Given the description of an element on the screen output the (x, y) to click on. 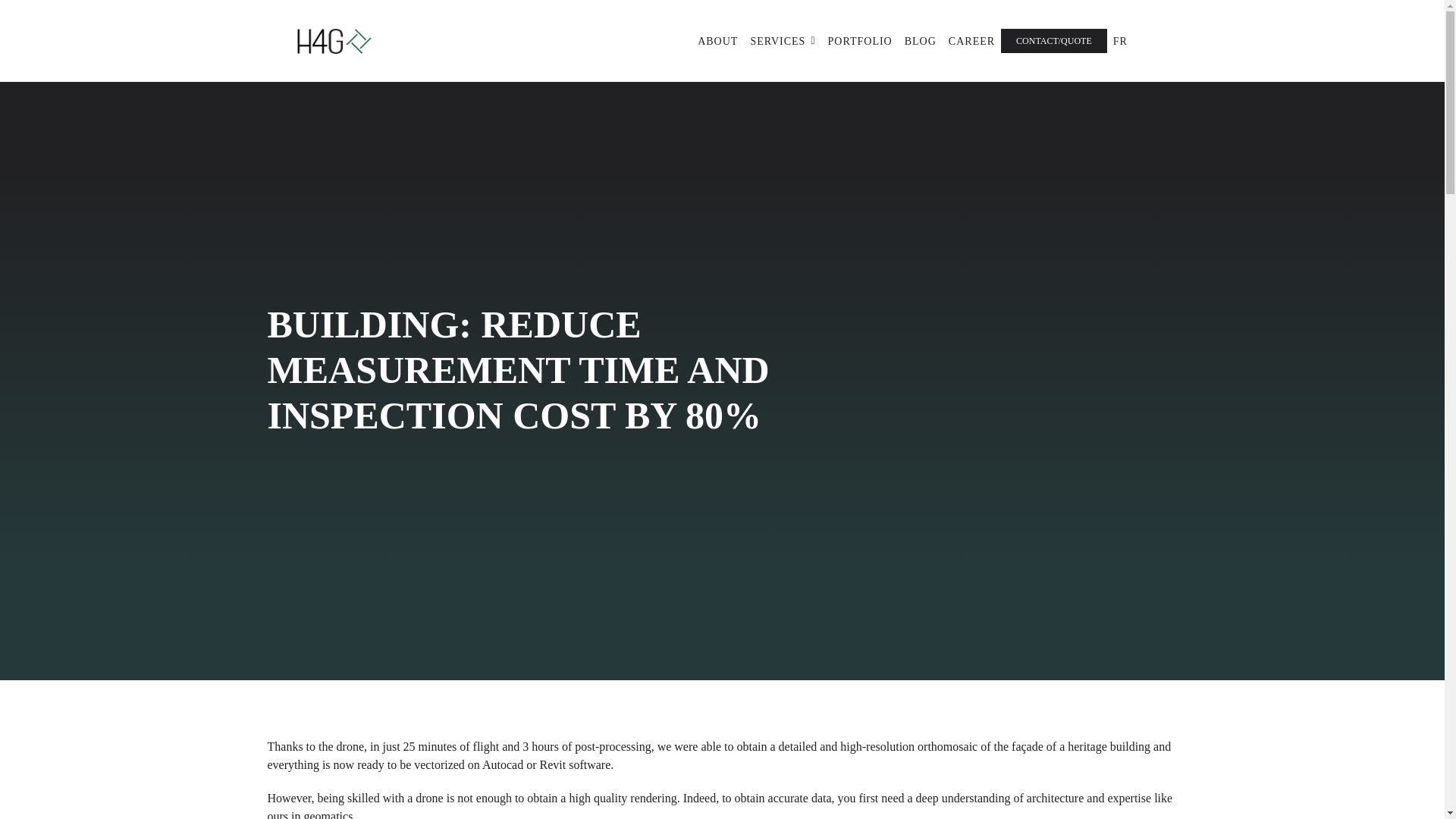
FR (1120, 41)
BLOG (920, 41)
SERVICES (782, 41)
CAREER (971, 41)
ABOUT (717, 41)
PORTFOLIO (860, 41)
